Given the description of an element on the screen output the (x, y) to click on. 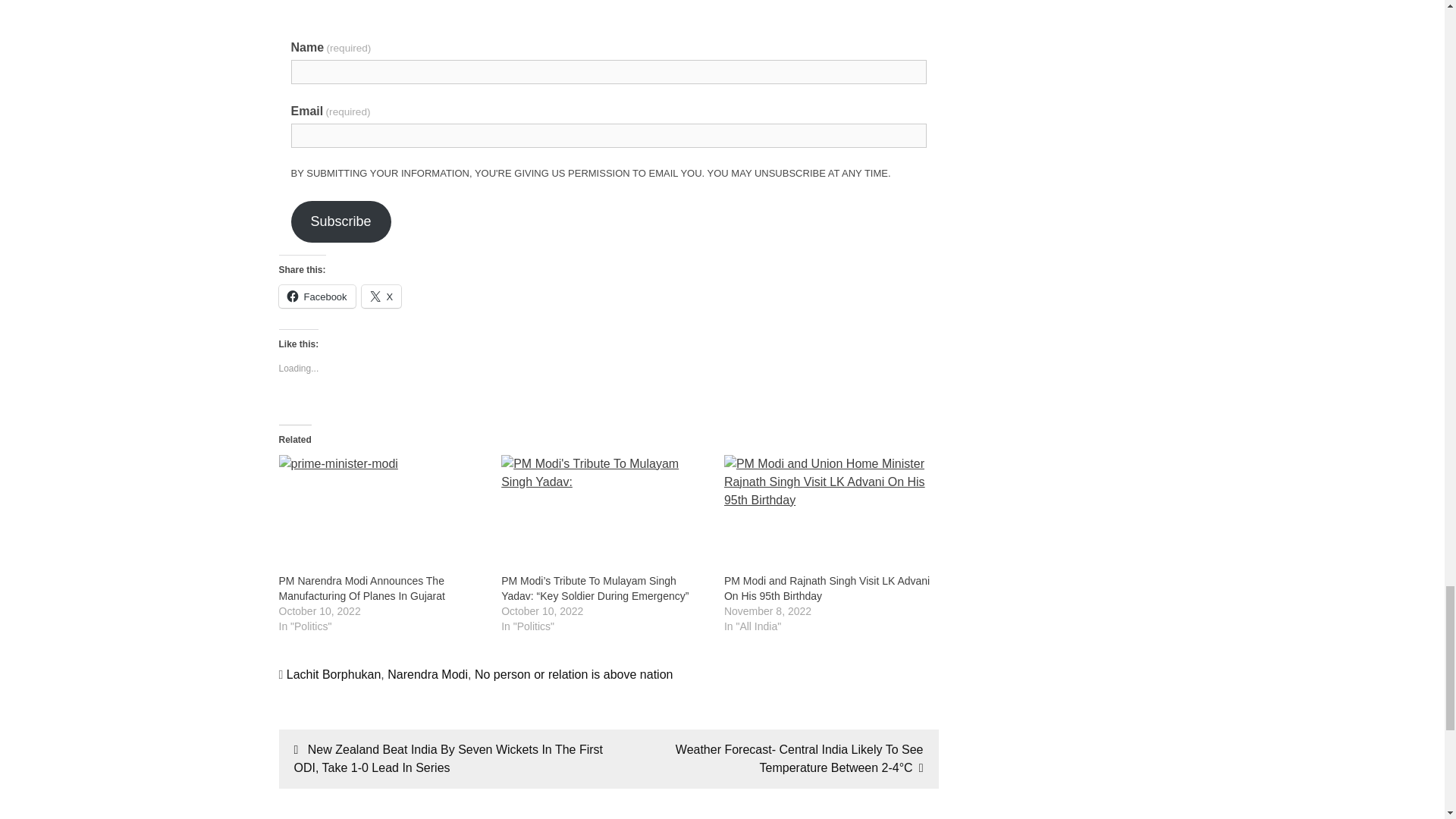
Click to share on Facebook (317, 296)
Click to share on X (381, 296)
